Given the description of an element on the screen output the (x, y) to click on. 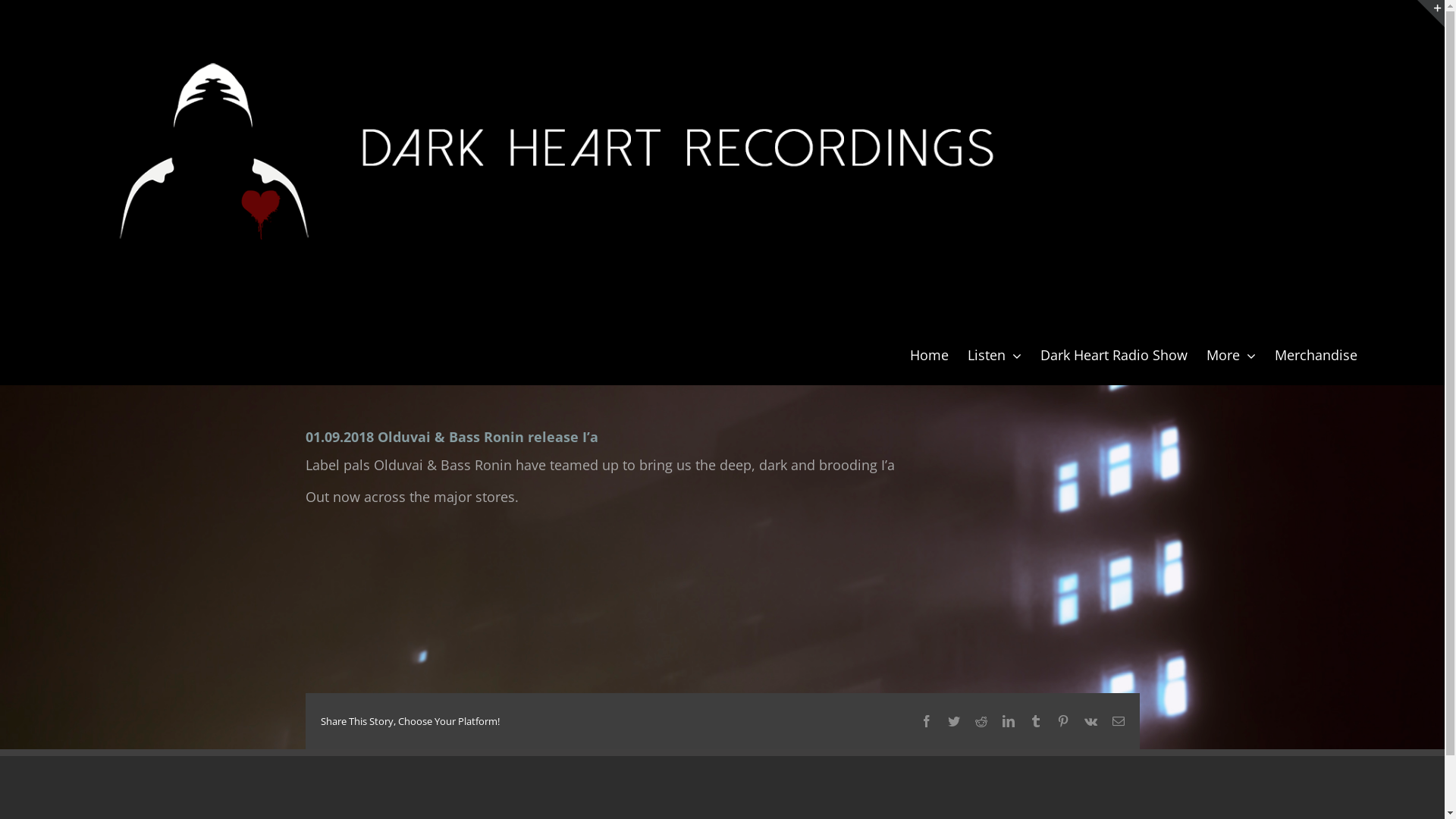
Dark Heart Radio Show Element type: text (1113, 353)
Merchandise Element type: text (1315, 353)
Listen Element type: text (994, 353)
Home Element type: text (929, 353)
Email Element type: text (1117, 721)
Toggle Sliding Bar Area Element type: text (1430, 13)
LinkedIn Element type: text (1008, 721)
More Element type: text (1230, 353)
Facebook Element type: text (926, 721)
Twitter Element type: text (953, 721)
Pinterest Element type: text (1063, 721)
Reddit Element type: text (981, 721)
Tumblr Element type: text (1035, 721)
Vk Element type: text (1090, 721)
